Given the description of an element on the screen output the (x, y) to click on. 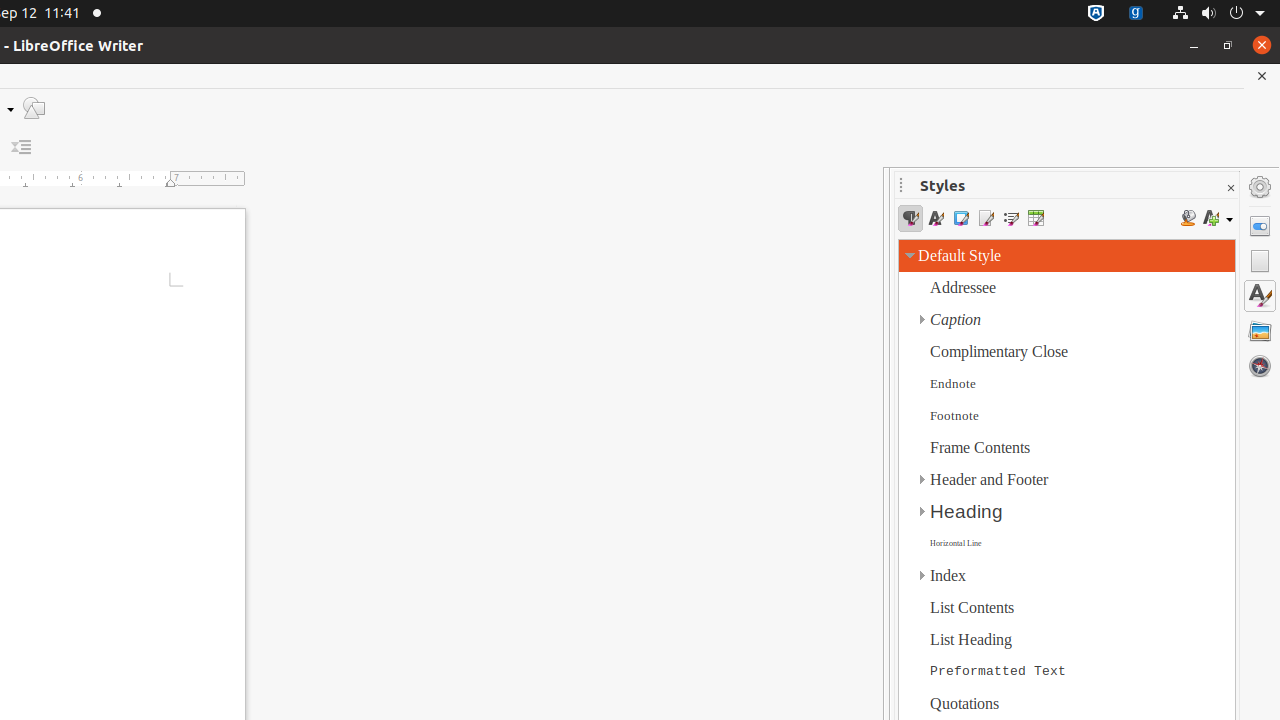
Navigator Element type: radio-button (1260, 366)
Draw Functions Element type: push-button (33, 108)
Table Styles Element type: push-button (1035, 218)
Properties Element type: radio-button (1260, 226)
Fill Format Mode Element type: push-button (1187, 218)
